Given the description of an element on the screen output the (x, y) to click on. 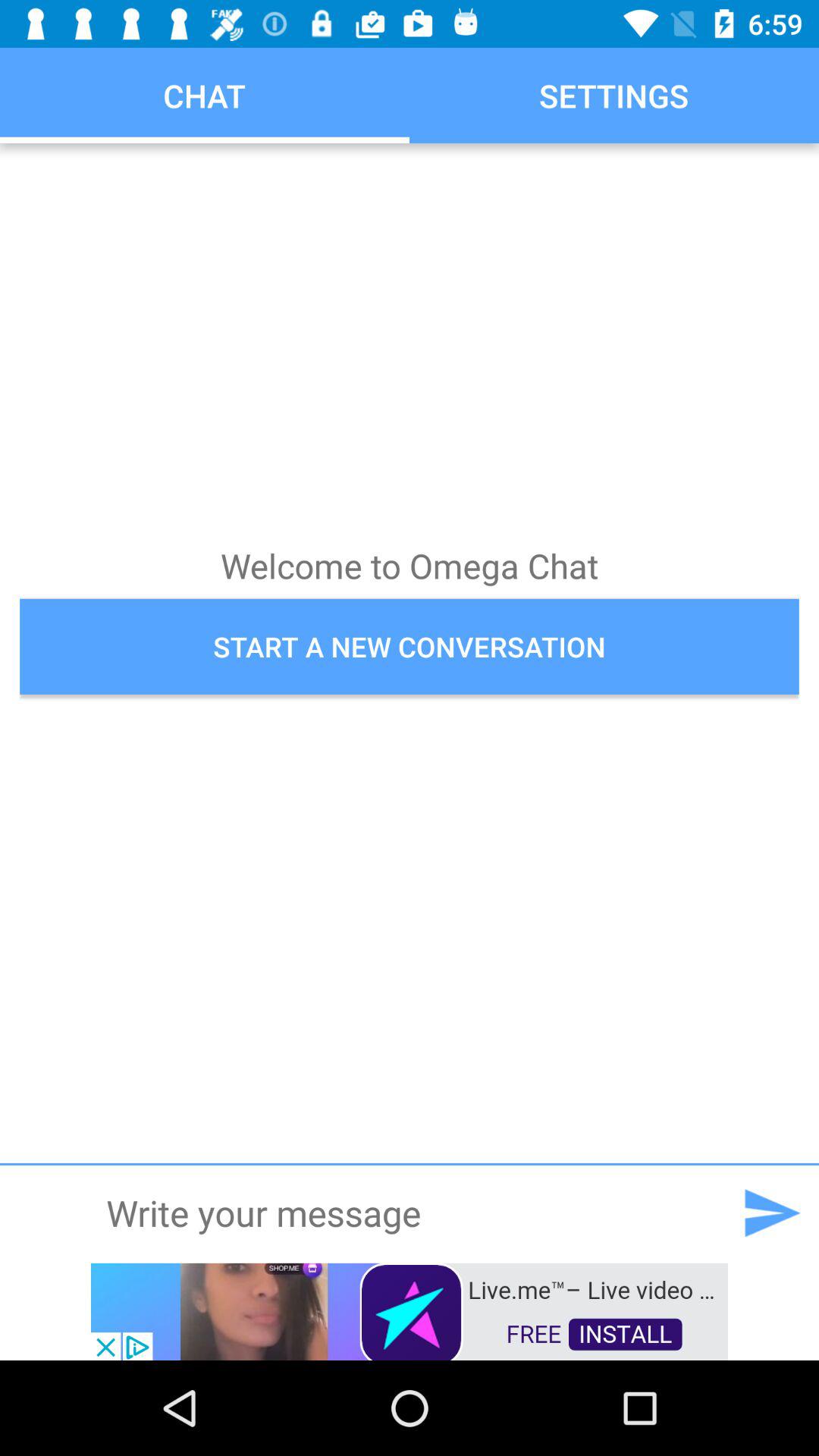
move (771, 1212)
